Given the description of an element on the screen output the (x, y) to click on. 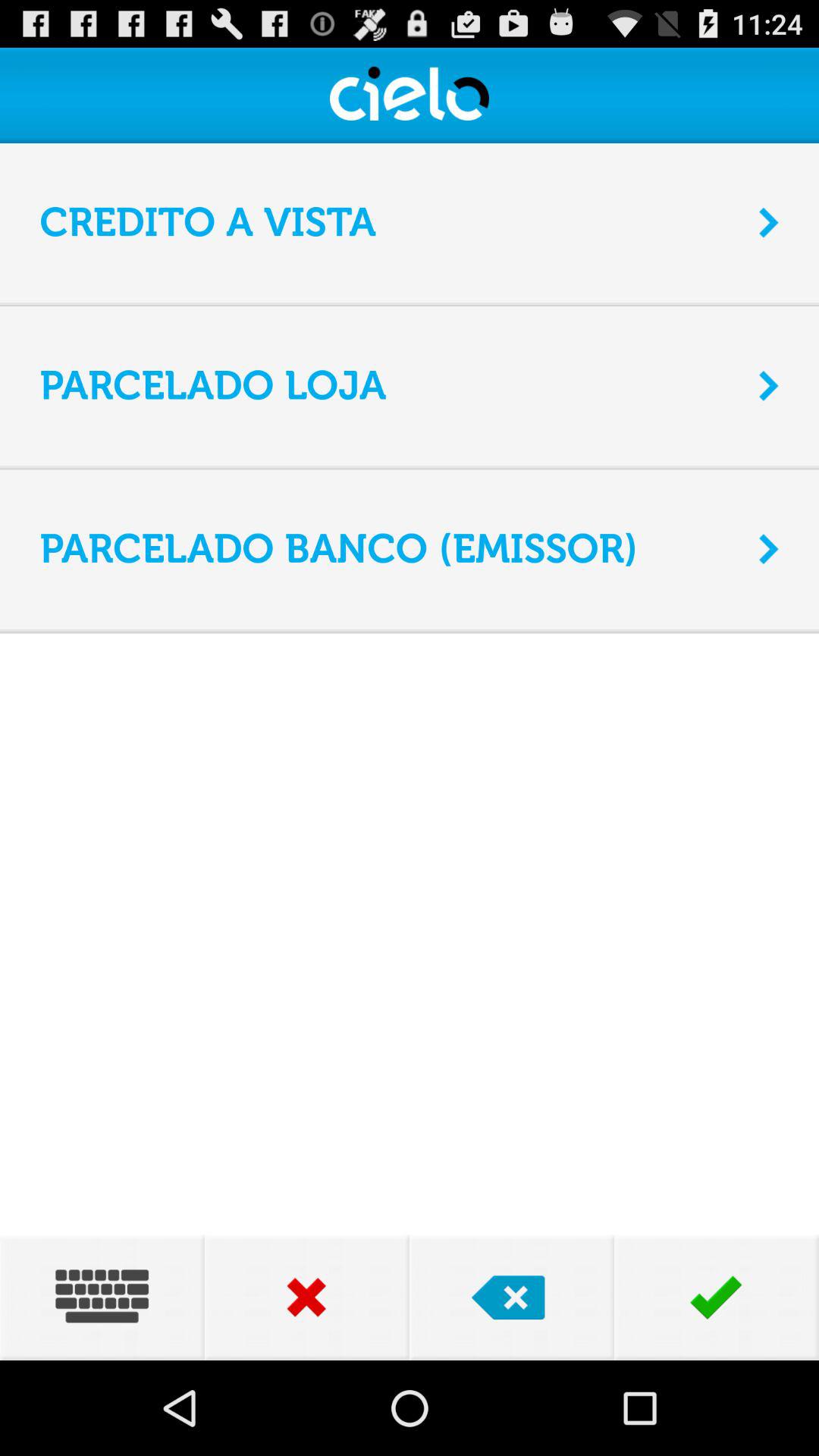
choose item next to parcelado banco (emissor) (769, 549)
